Given the description of an element on the screen output the (x, y) to click on. 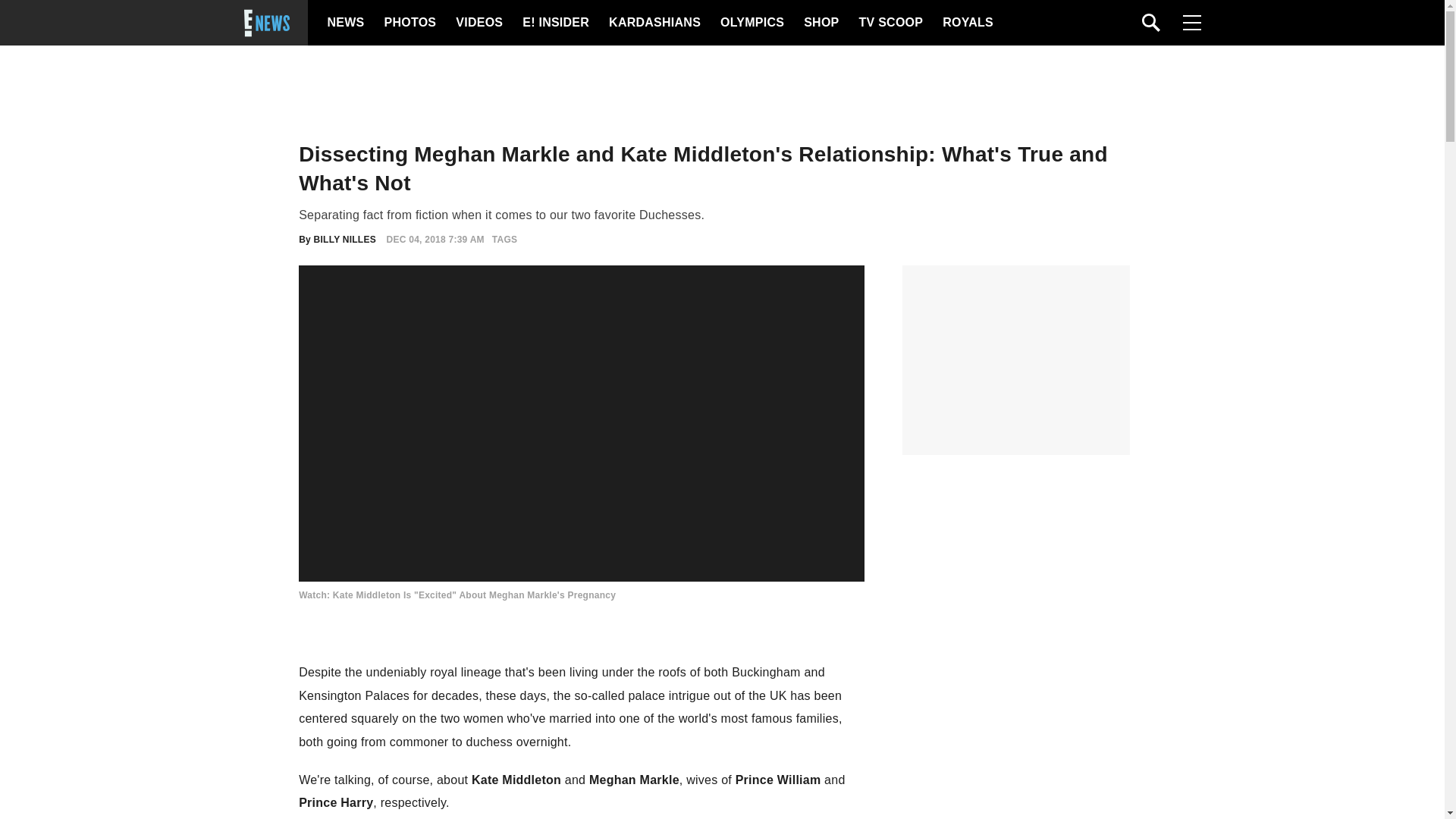
OLYMPICS (751, 22)
VIDEOS (478, 22)
KARDASHIANS (653, 22)
BILLY NILLES (344, 239)
E! INSIDER (555, 22)
ROYALS (966, 22)
NEWS (345, 22)
PHOTOS (408, 22)
TV SCOOP (890, 22)
SHOP (820, 22)
